Given the description of an element on the screen output the (x, y) to click on. 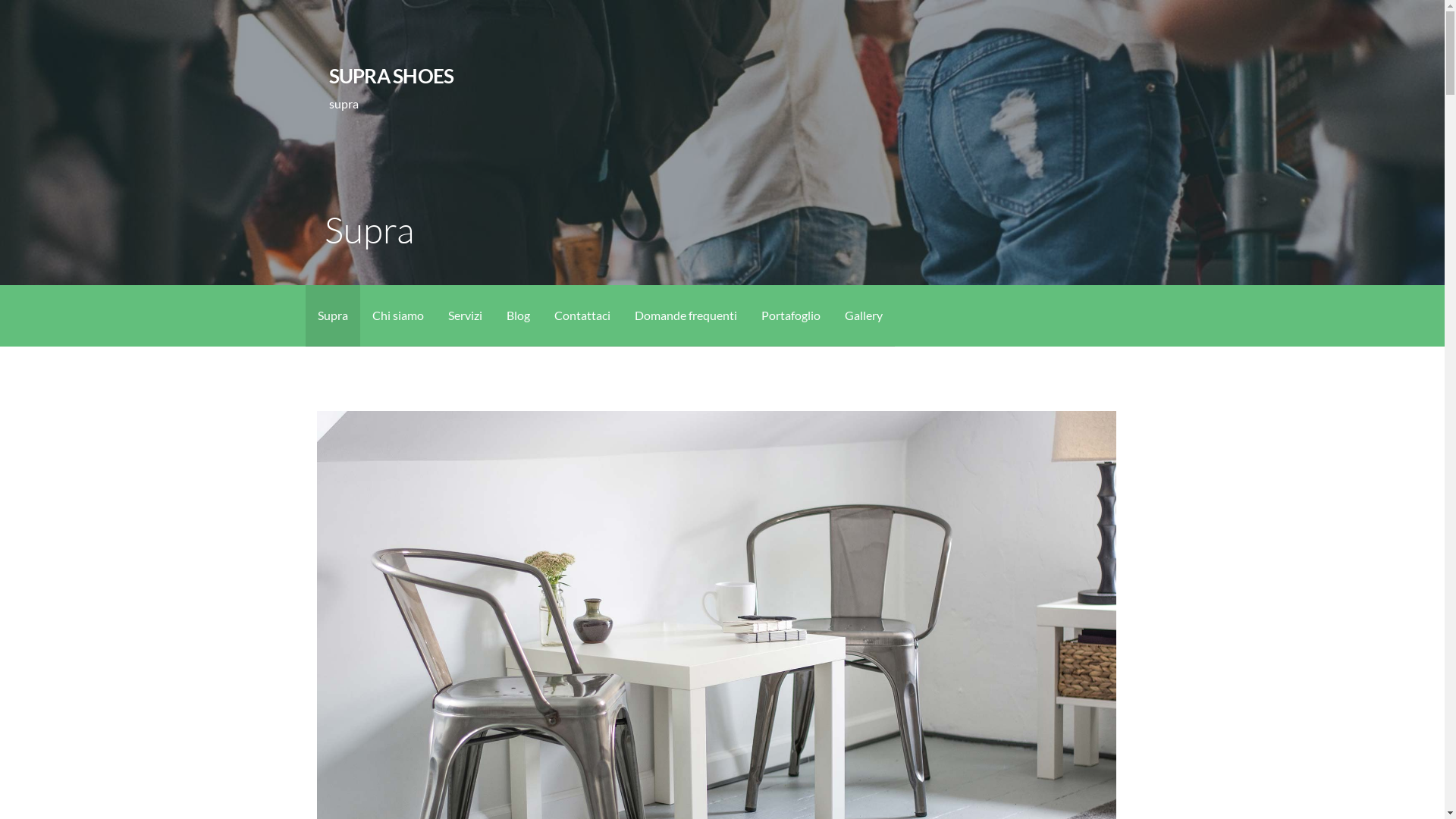
Blog Element type: text (518, 315)
Domande frequenti Element type: text (684, 315)
Contattaci Element type: text (581, 315)
SUPRA SHOES Element type: text (391, 75)
Portafoglio Element type: text (790, 315)
Chi siamo Element type: text (397, 315)
Servizi Element type: text (464, 315)
Supra Element type: text (331, 315)
Gallery Element type: text (863, 315)
